Given the description of an element on the screen output the (x, y) to click on. 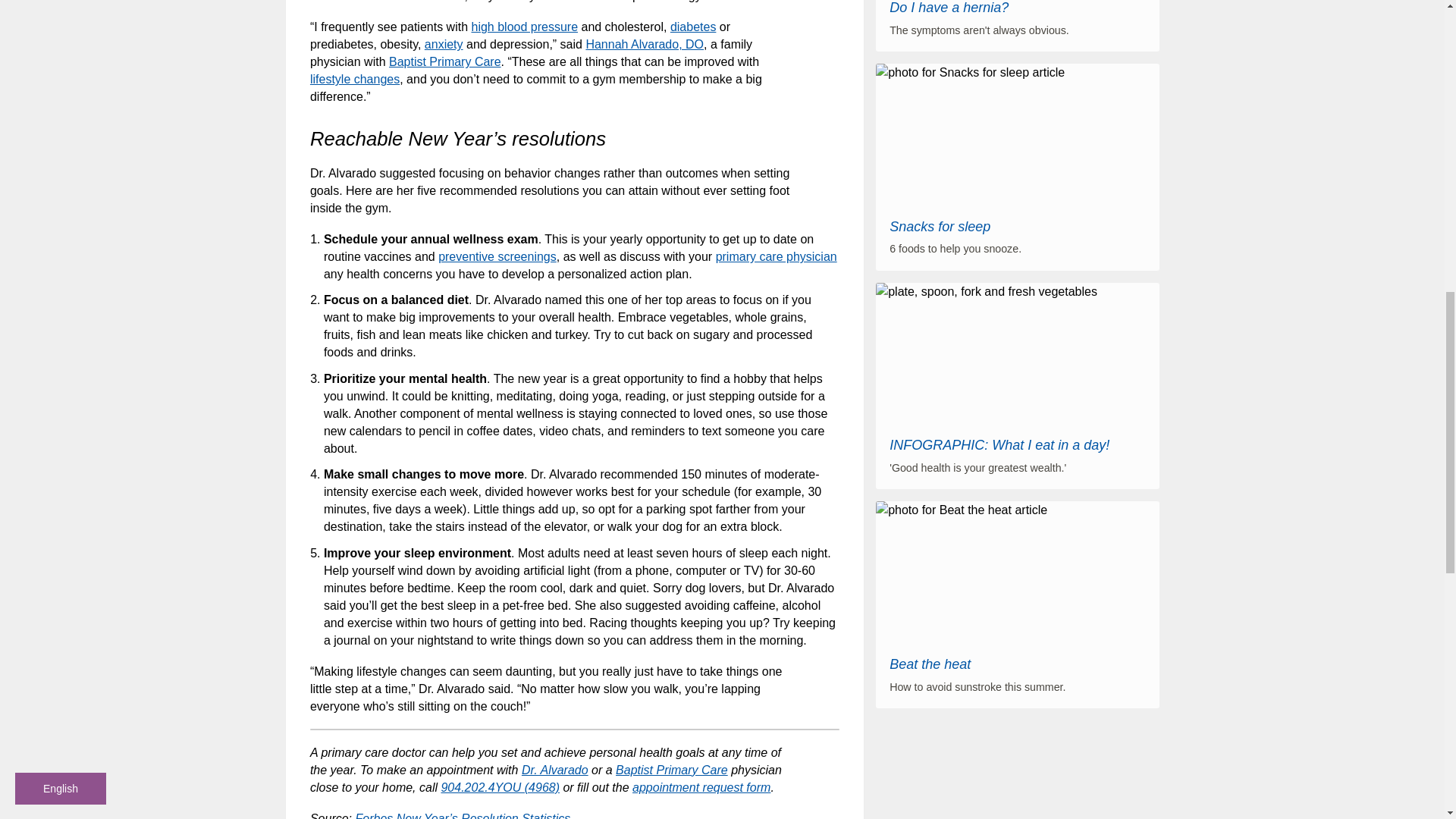
preventive screenings (497, 256)
appointment request form (700, 787)
Snacks for sleep (939, 226)
Baptist Primary Care (444, 61)
Baptist Primary Care (671, 769)
diabetes (692, 26)
INFOGRAPHIC: What I eat in a day! (999, 444)
lifestyle changes (354, 78)
Do I have a hernia? (949, 7)
Hannah Alvarado, DO (644, 43)
anxiety (444, 43)
primary care physician (776, 256)
Beat the heat (930, 663)
high blood pressure (524, 26)
Dr. Alvarado (554, 769)
